Given the description of an element on the screen output the (x, y) to click on. 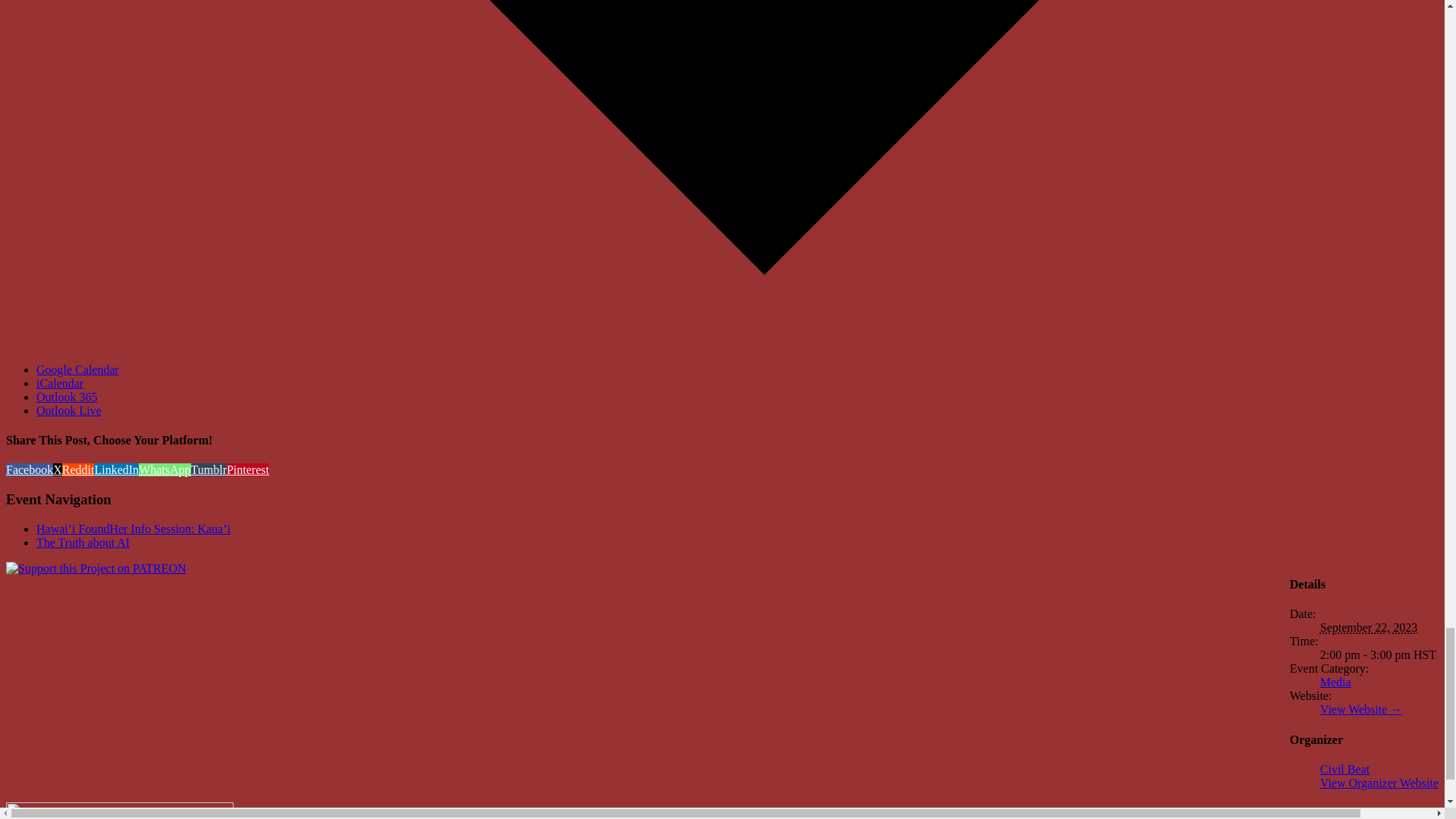
Civil Beat (1345, 768)
2023-09-22 (1379, 654)
Outlook 365 (66, 396)
Media (1335, 681)
WhatsApp (164, 469)
WhatsApp (164, 469)
Pinterest (248, 469)
Reddit (78, 469)
Tumblr (208, 469)
Google Calendar (77, 369)
